Given the description of an element on the screen output the (x, y) to click on. 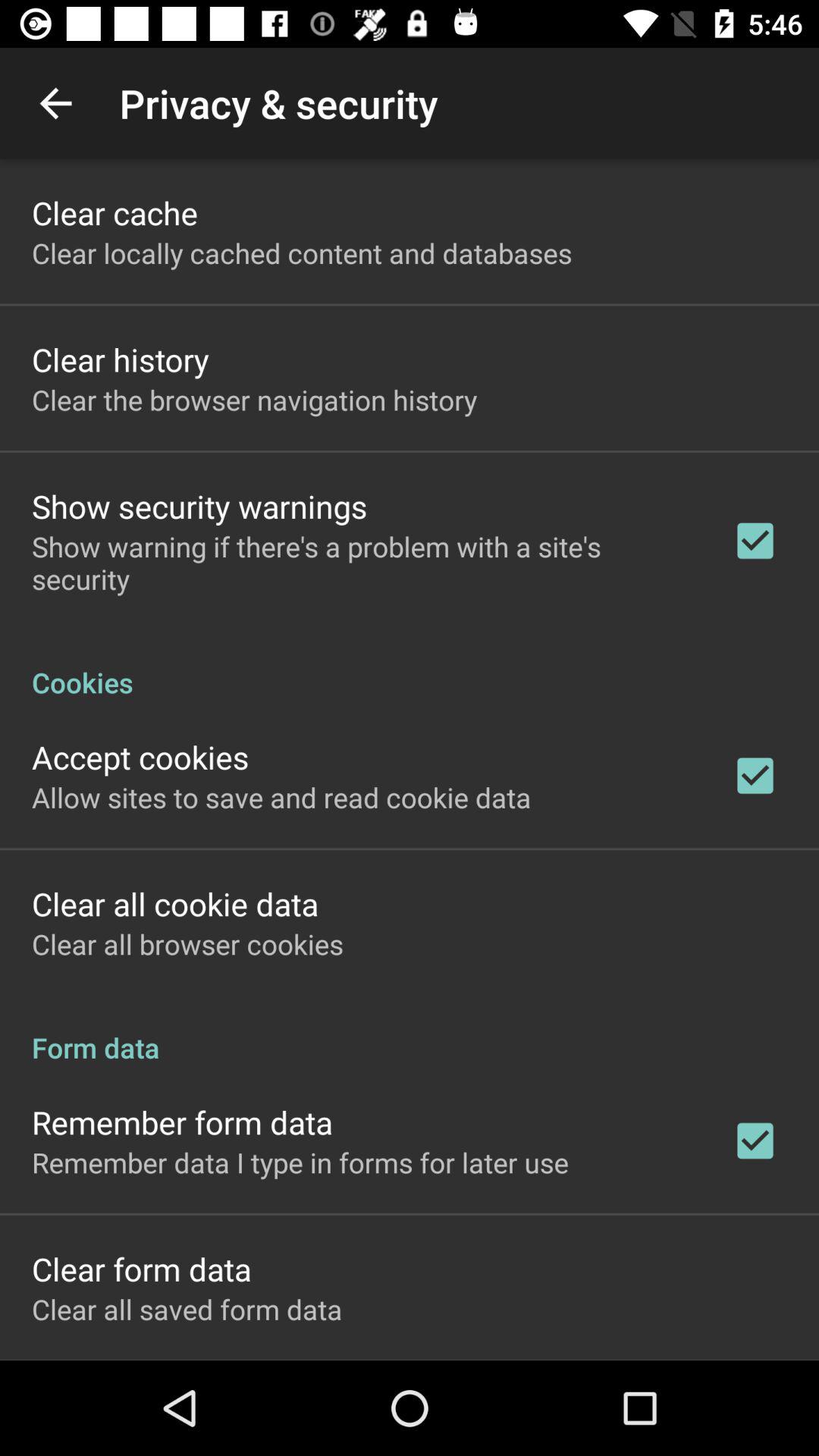
press the item next to privacy & security (55, 103)
